Given the description of an element on the screen output the (x, y) to click on. 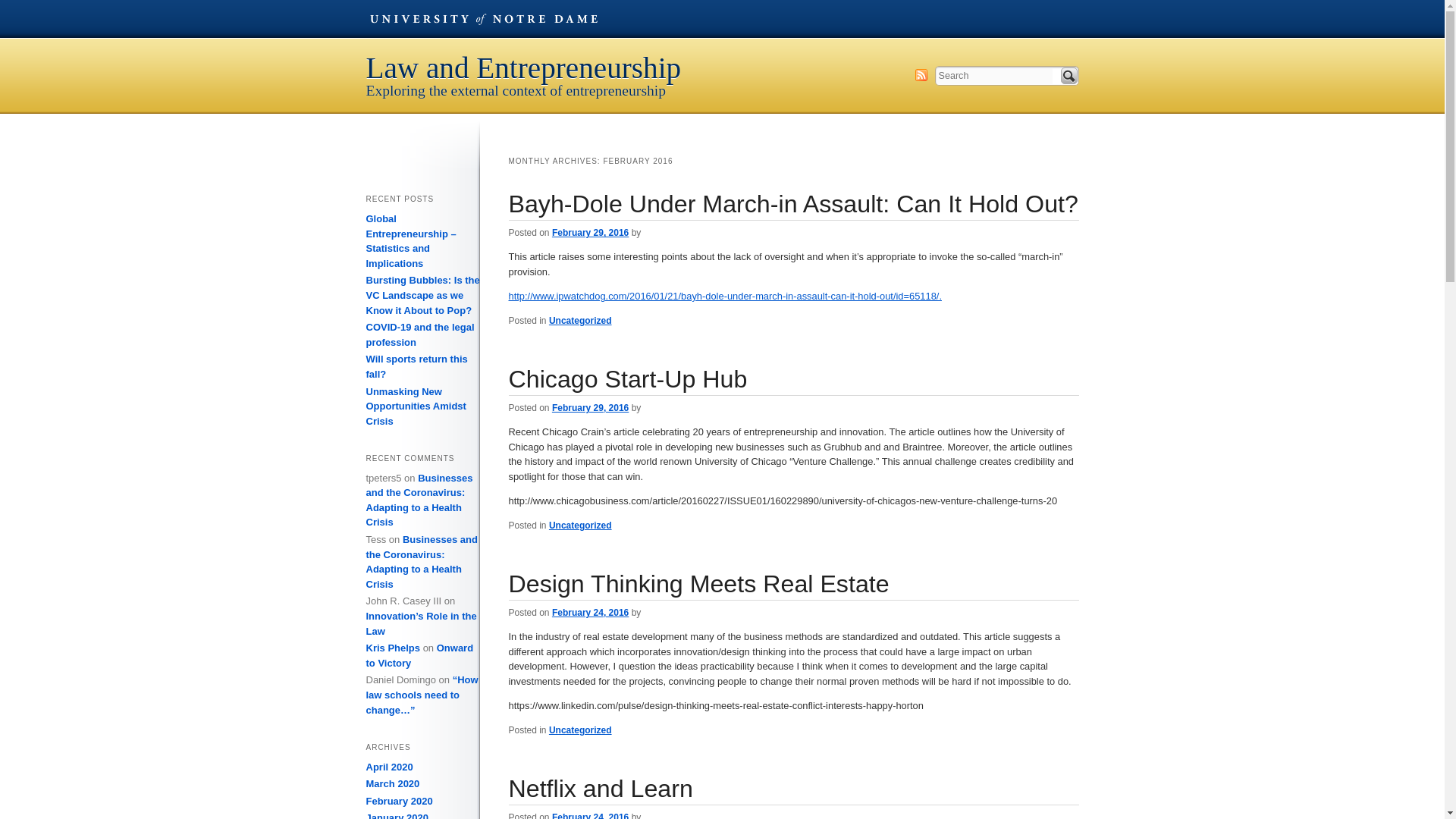
Permalink to Design Thinking Meets Real Estate (698, 583)
Permalink to Chicago Start-Up Hub (627, 379)
Bayh-Dole Under March-in Assault: Can It Hold Out? (792, 203)
February 24, 2016 (589, 815)
Search (1068, 75)
Law and Entrepreneurship RSS Feed (920, 74)
February 29, 2016 (589, 232)
11:57 am (589, 815)
Netflix and Learn (600, 788)
Uncategorized (579, 320)
